Given the description of an element on the screen output the (x, y) to click on. 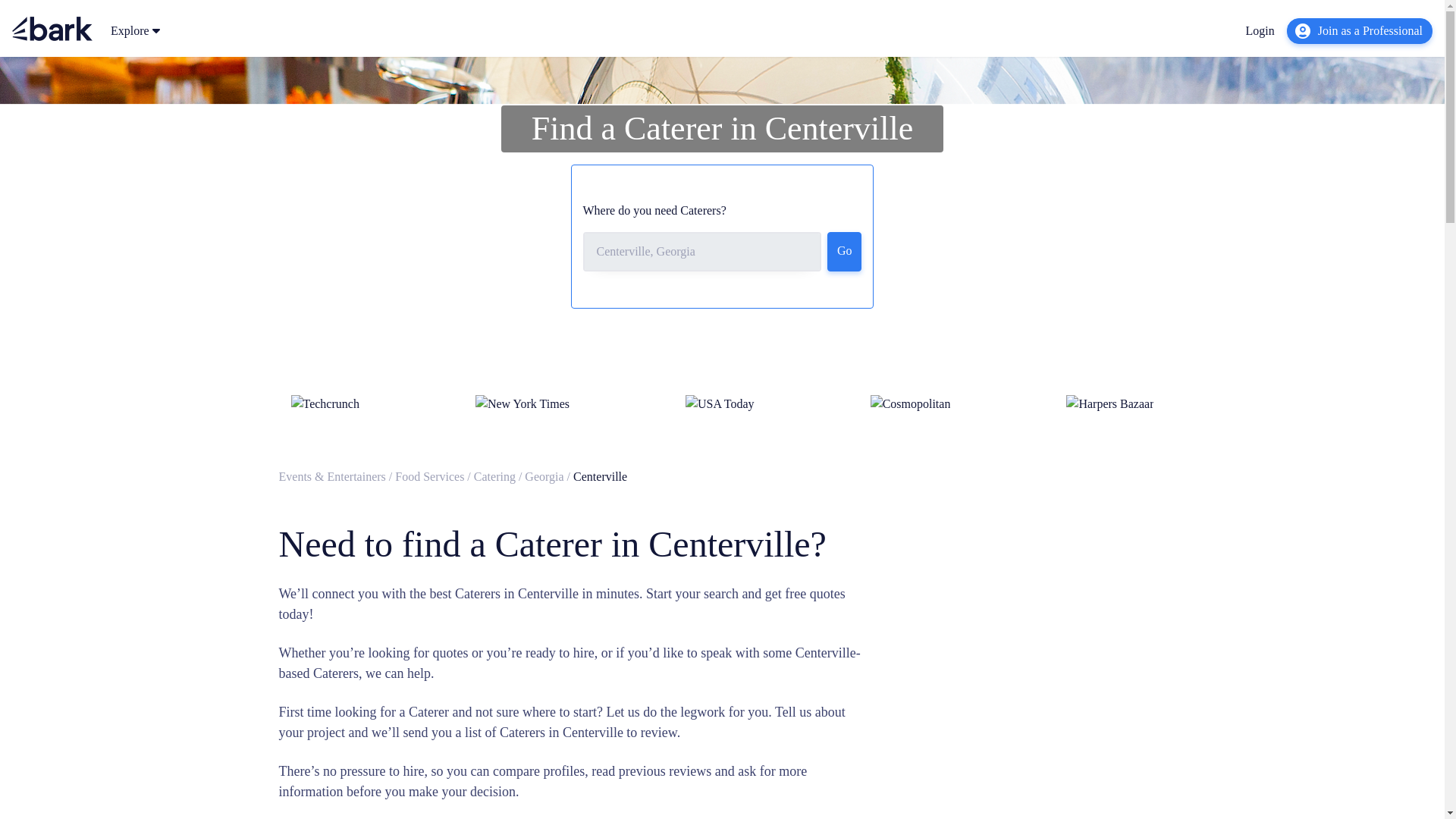
New York Times (522, 403)
Bark Logo (52, 28)
Techcrunch (325, 403)
Centerville, Georgia (701, 251)
USA Today (719, 403)
Cosmopolitan (910, 403)
Harpers Bazaar (1109, 403)
